Given the description of an element on the screen output the (x, y) to click on. 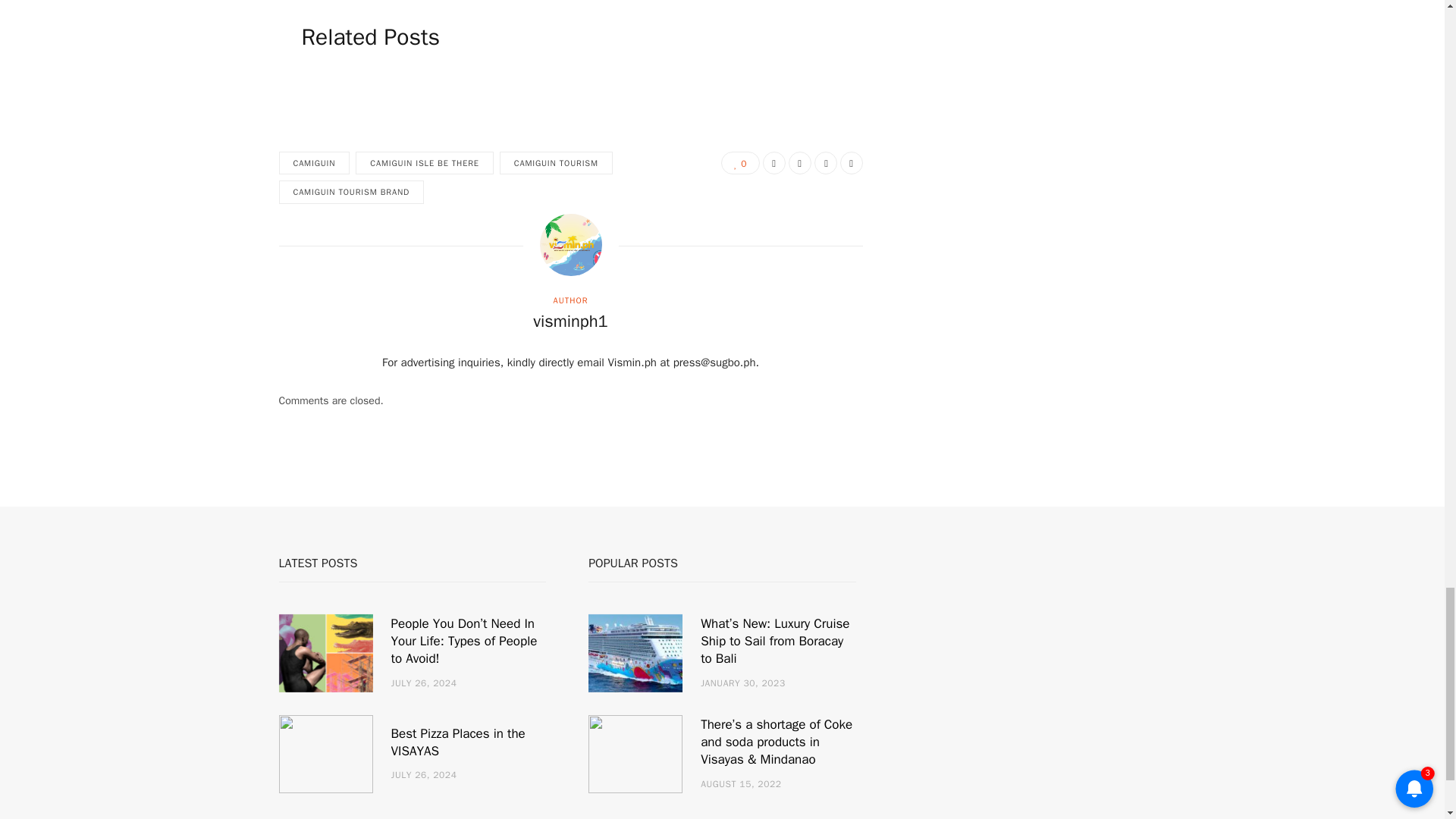
visminph1 (569, 321)
CAMIGUIN ISLE BE THERE (424, 163)
CAMIGUIN TOURISM (555, 163)
CAMIGUIN TOURISM BRAND (352, 191)
CAMIGUIN (314, 163)
0 (740, 162)
